Given the description of an element on the screen output the (x, y) to click on. 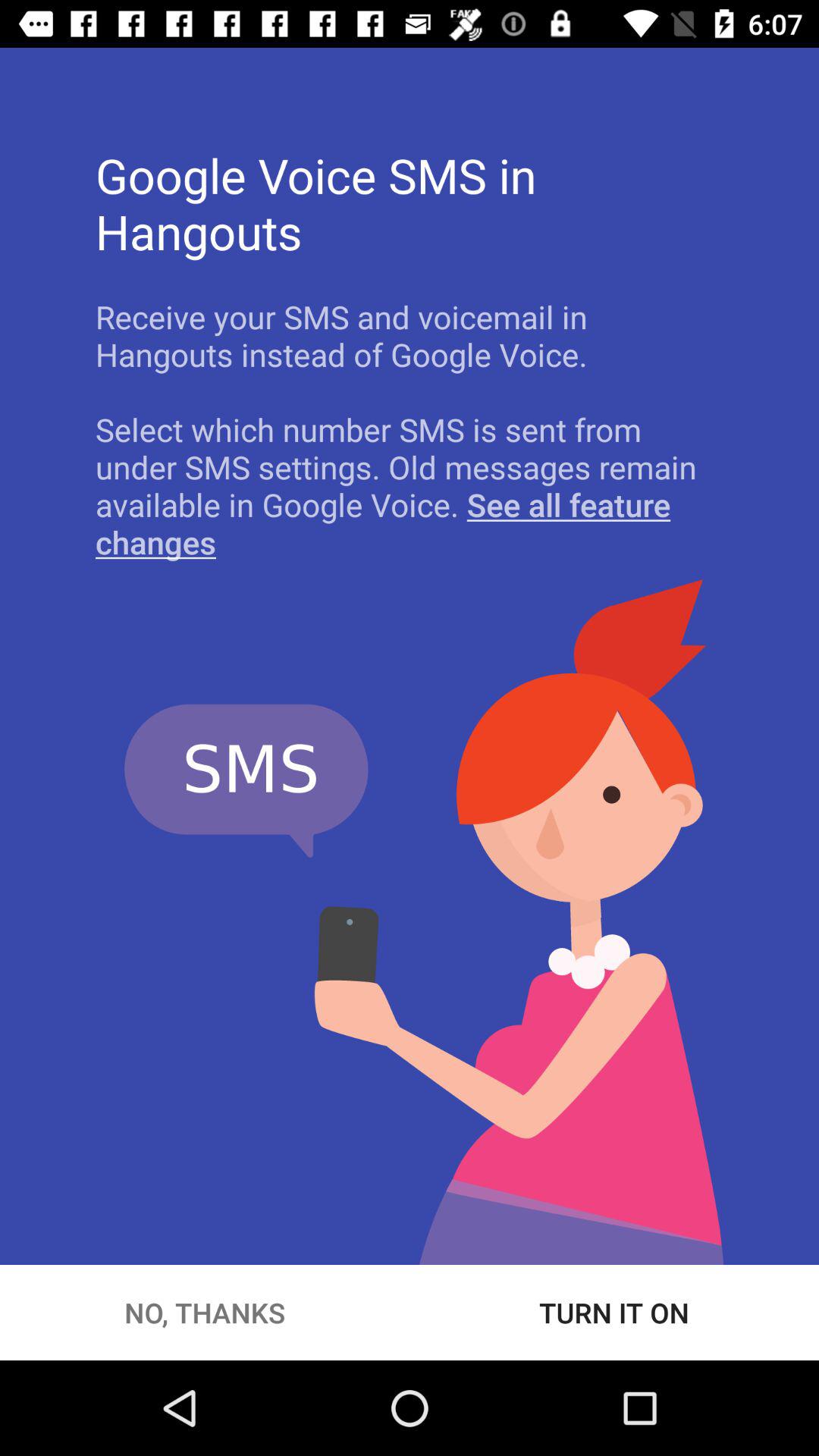
open the select which number item (409, 485)
